Given the description of an element on the screen output the (x, y) to click on. 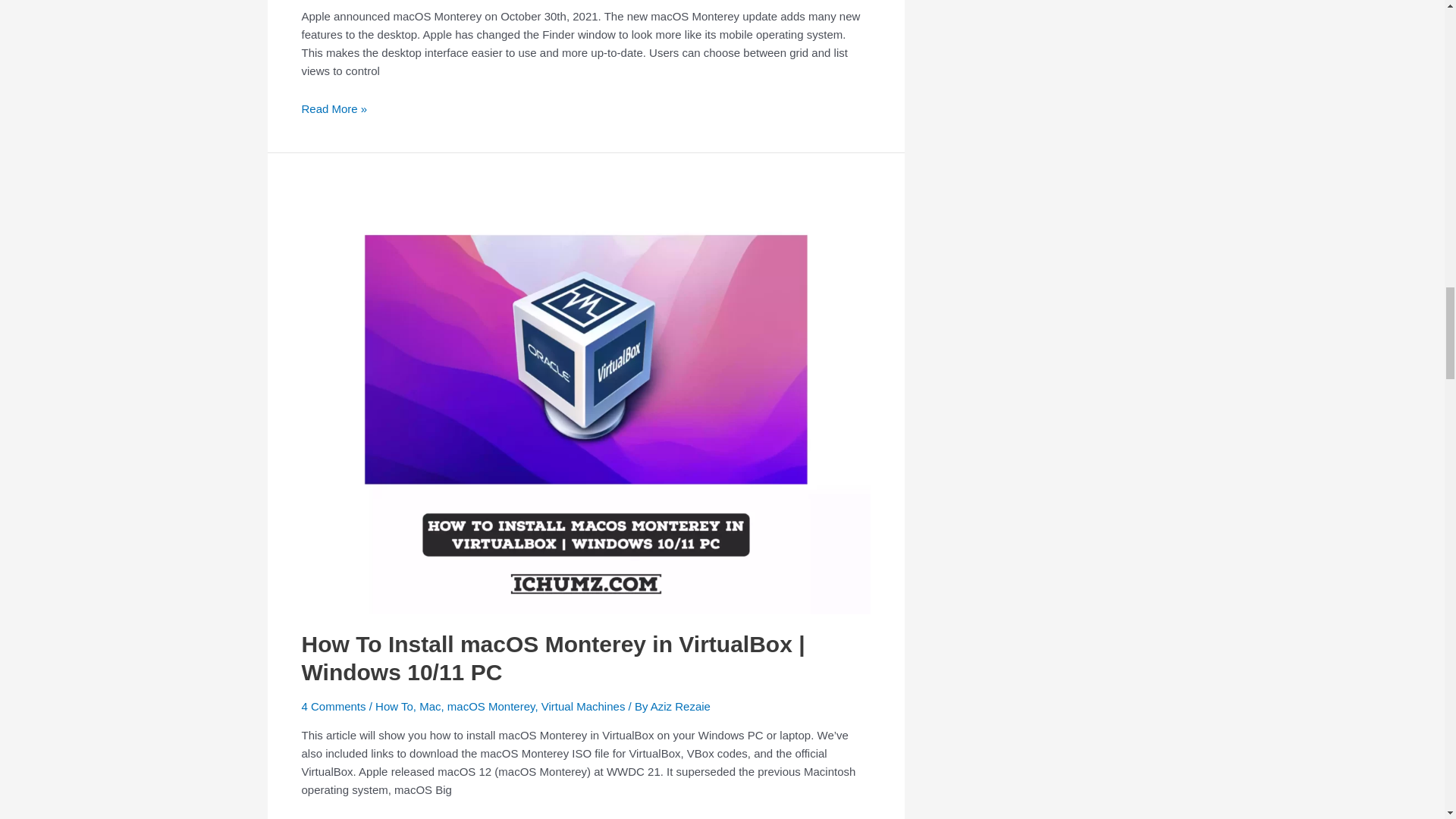
View all posts by Aziz Rezaie (680, 706)
